Given the description of an element on the screen output the (x, y) to click on. 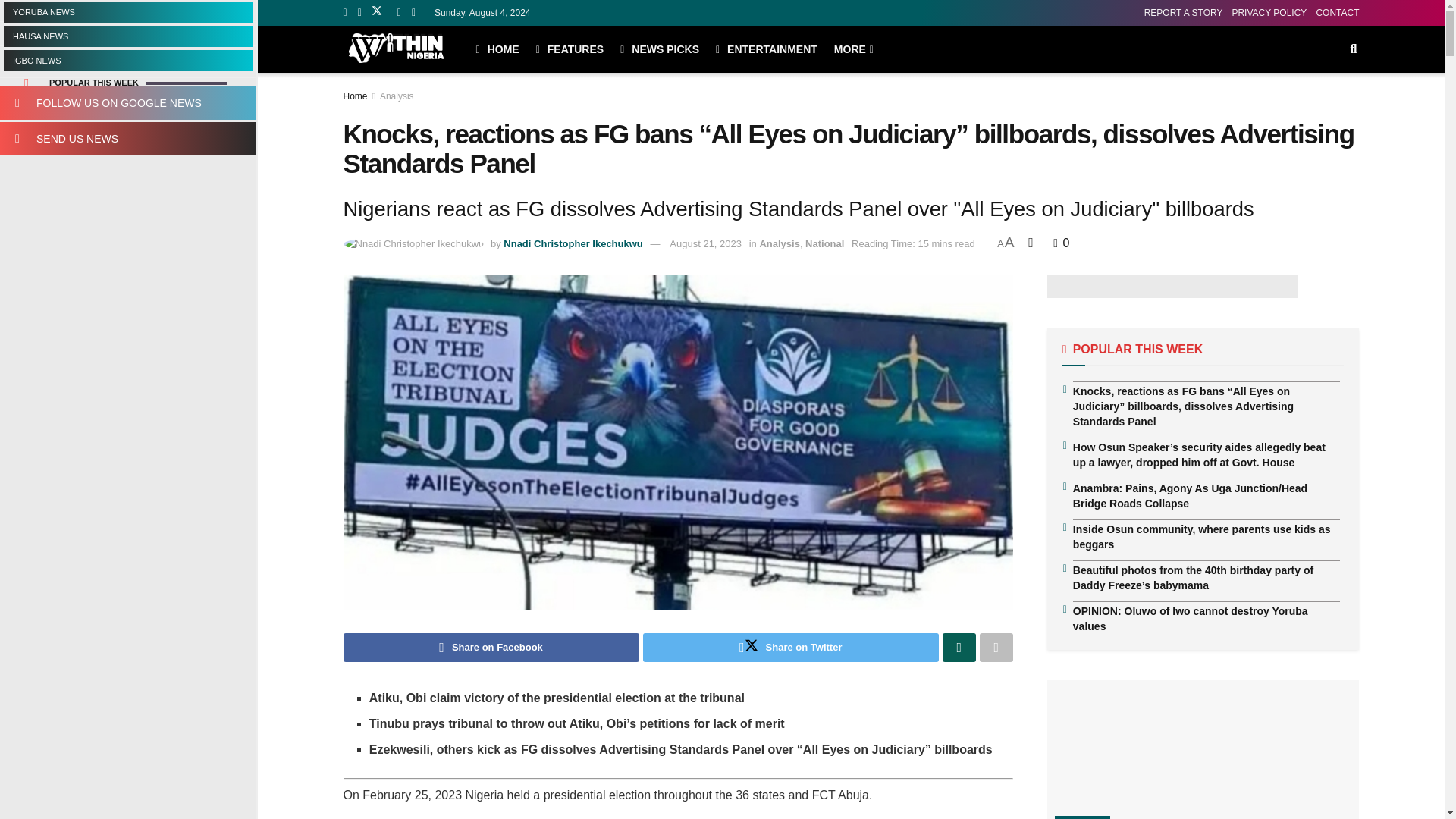
SEND US NEWS (128, 138)
SEND NEWS TO WITHIN NIGERIA (128, 138)
NEWS PICKS (659, 48)
WITHIN NIGERIA ON GOOGLE NEWS (128, 102)
HAUSA NEWS (127, 35)
ENTERTAINMENT (766, 48)
REPORT A STORY (1183, 12)
FOLLOW US ON GOOGLE NEWS (128, 102)
IGBO NEWS (127, 60)
CONTACT (1337, 12)
FEATURES (569, 48)
HOME (497, 48)
IGBO NEWS (127, 60)
HAUSA NEWS (127, 35)
PRIVACY POLICY (1268, 12)
